Given the description of an element on the screen output the (x, y) to click on. 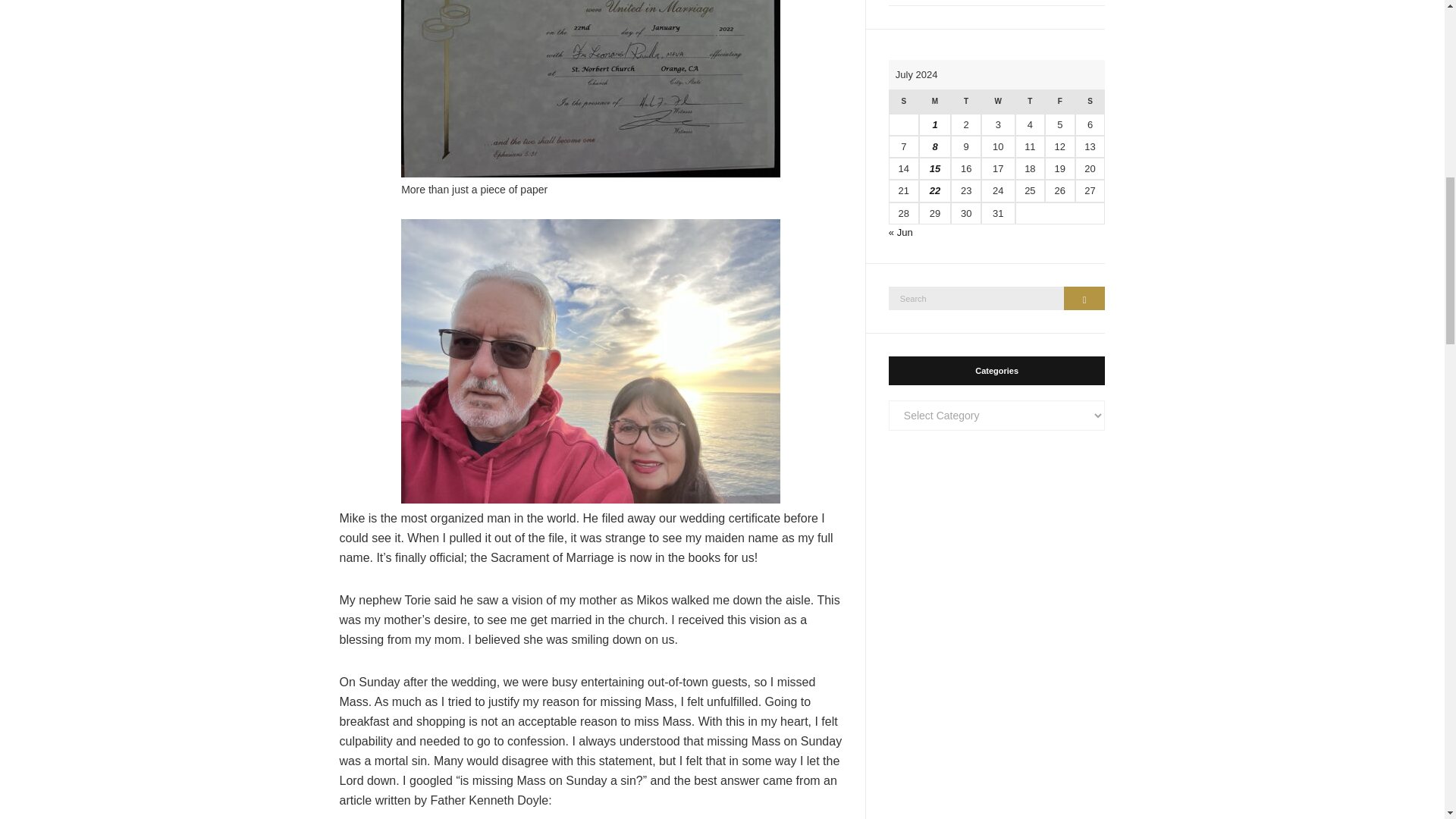
Friday (1059, 101)
Tuesday (964, 101)
The Last Days (996, 2)
Saturday (1090, 101)
Monday (935, 101)
Thursday (1029, 101)
Sunday (903, 101)
Wednesday (997, 101)
